Given the description of an element on the screen output the (x, y) to click on. 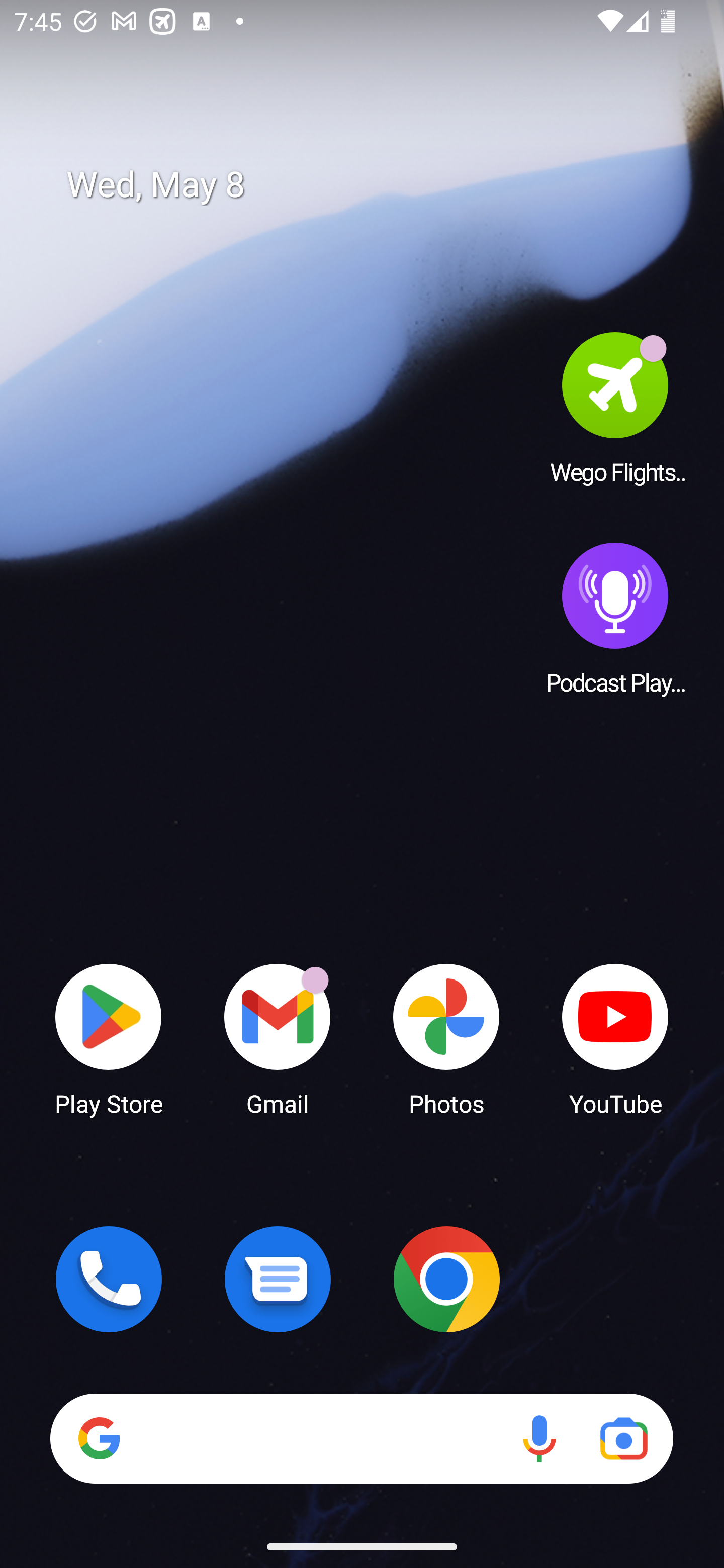
Wed, May 8 (375, 184)
Podcast Player (615, 617)
Play Store (108, 1038)
Gmail Gmail has 17 notifications (277, 1038)
Photos (445, 1038)
YouTube (615, 1038)
Phone (108, 1279)
Messages (277, 1279)
Chrome (446, 1279)
Voice search (539, 1438)
Google Lens (623, 1438)
